Given the description of an element on the screen output the (x, y) to click on. 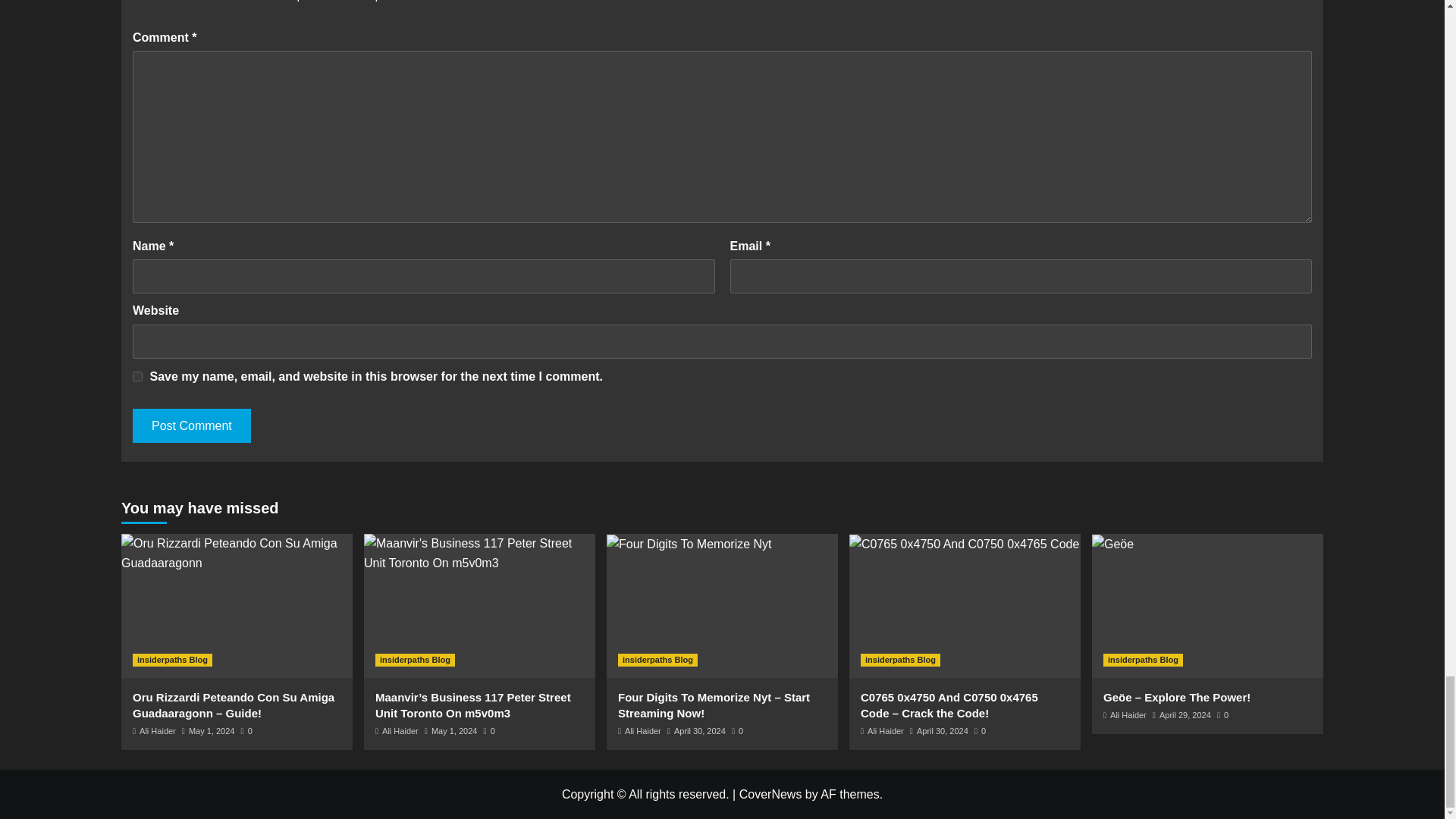
yes (137, 376)
Post Comment (191, 425)
